Given the description of an element on the screen output the (x, y) to click on. 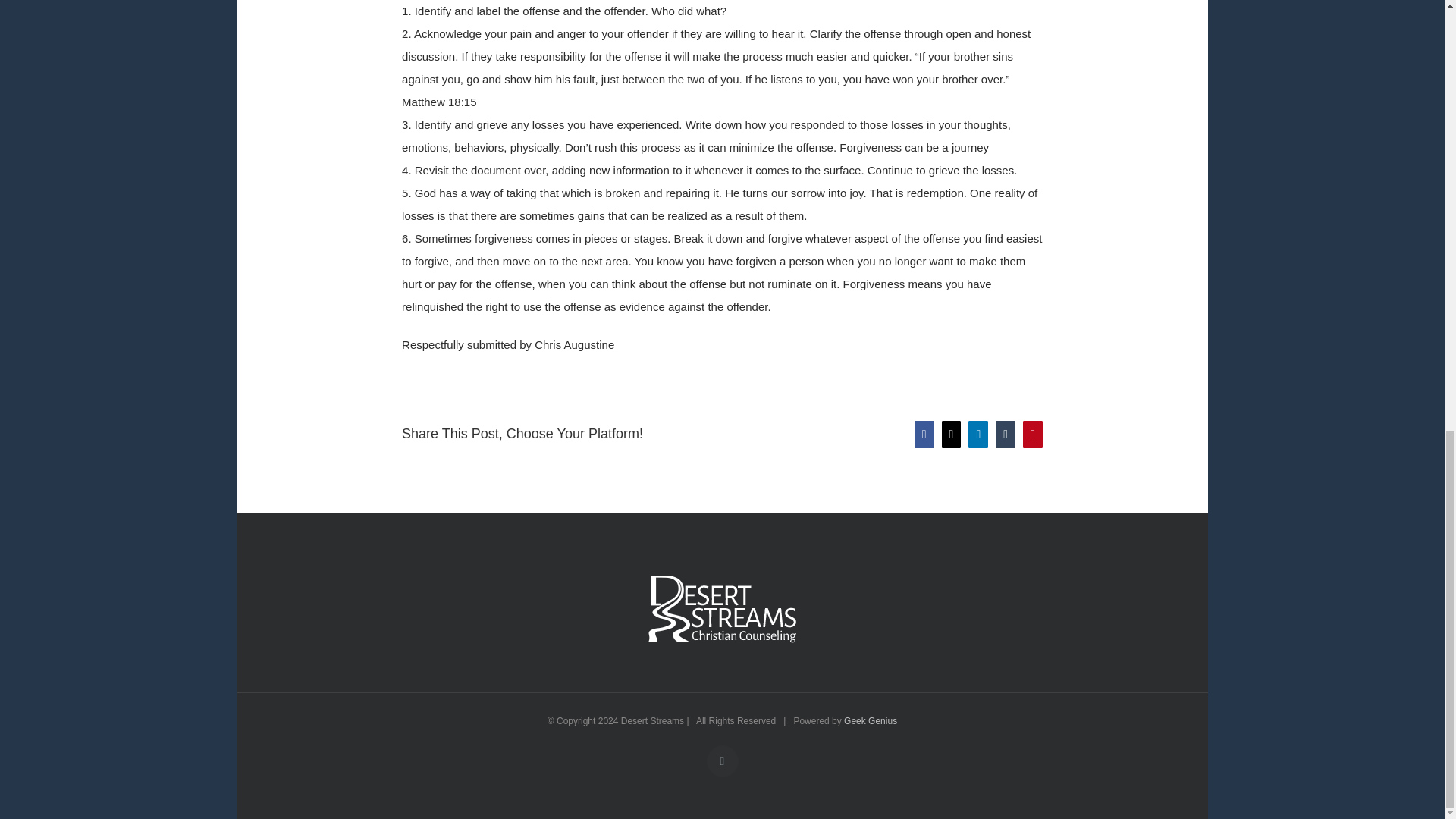
Facebook (722, 761)
Geek Genius (870, 720)
